Given the description of an element on the screen output the (x, y) to click on. 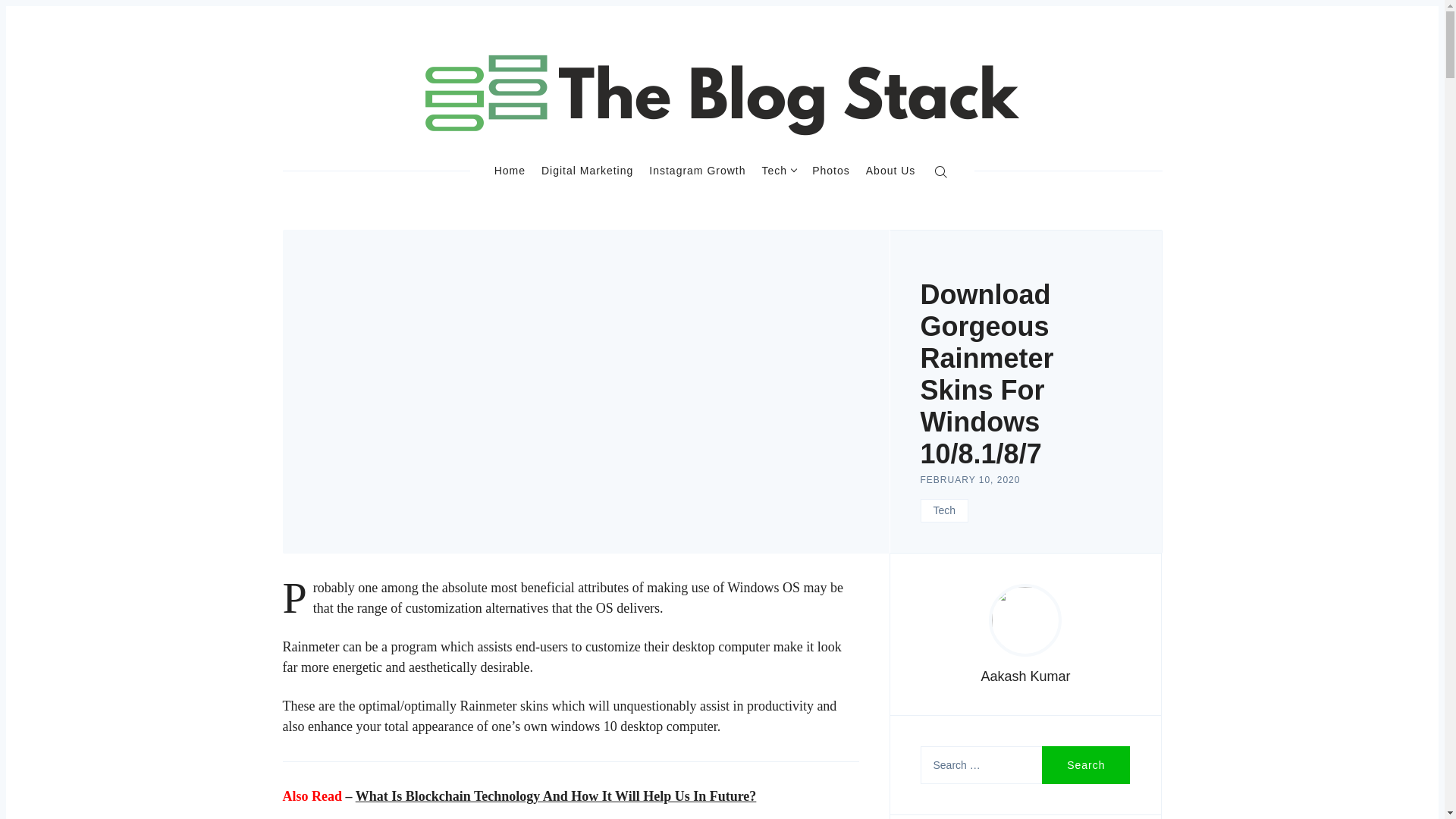
About Us (890, 170)
Tech (944, 510)
Digital Marketing (587, 170)
Instagram Growth (697, 170)
Tech (778, 170)
Search (1085, 764)
Home (510, 170)
Photos (831, 170)
Search (1085, 764)
